Given the description of an element on the screen output the (x, y) to click on. 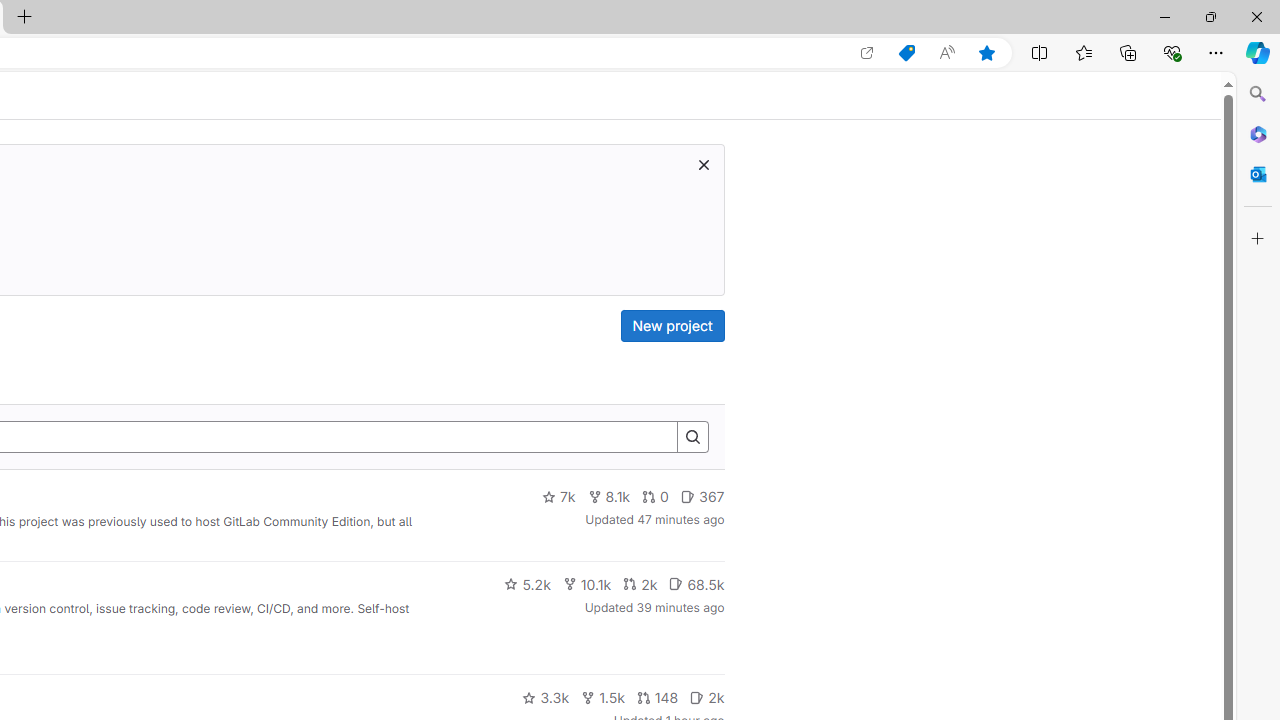
1.5k (602, 697)
0 (655, 497)
68.5k (696, 583)
2k (706, 697)
10.1k (586, 583)
Class: s14 gl-mr-2 (697, 696)
Class: s16 gl-icon gl-button-icon  (703, 164)
7k (558, 497)
